Given the description of an element on the screen output the (x, y) to click on. 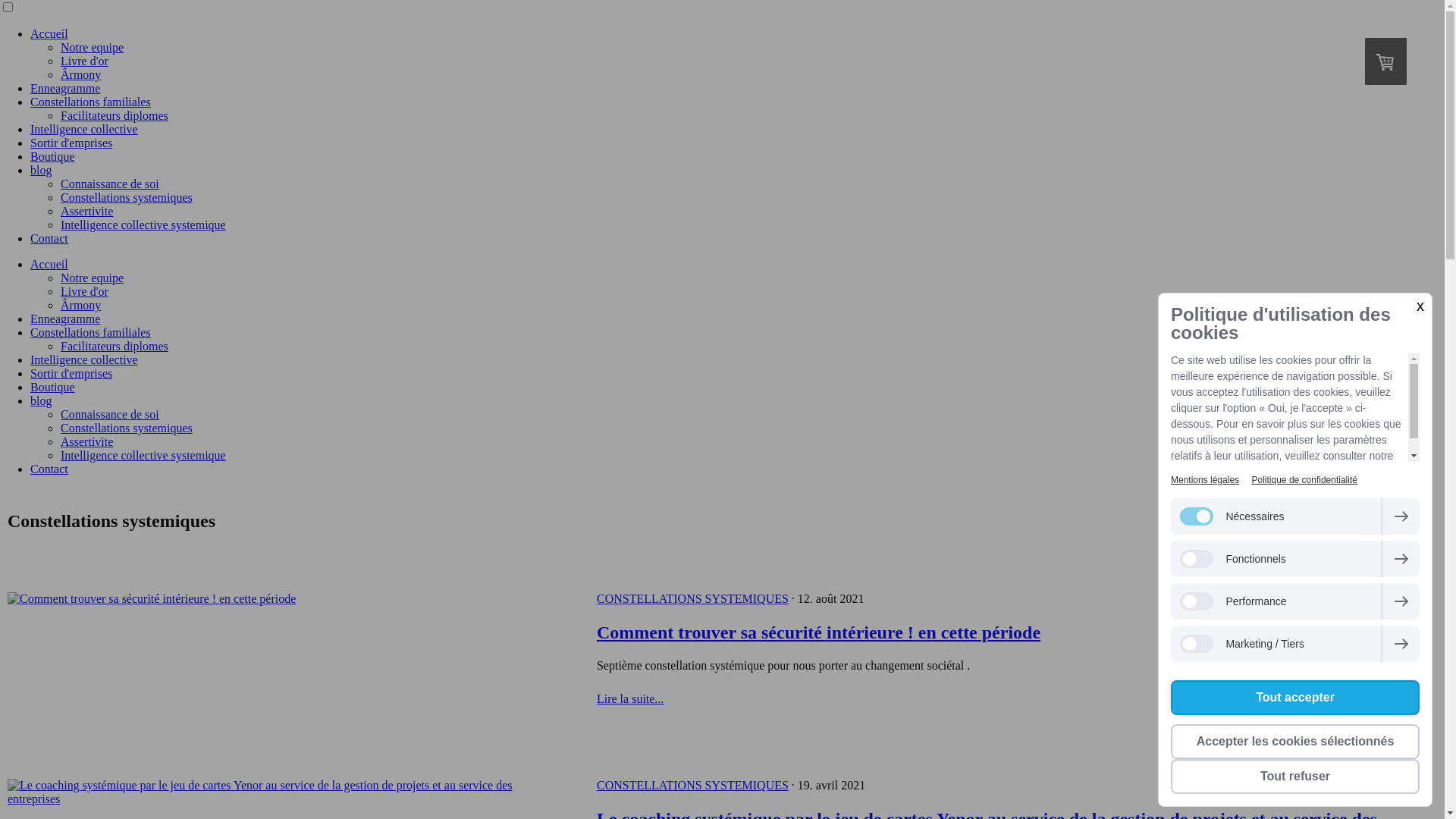
Livre d'or Element type: text (84, 291)
Boutique Element type: text (52, 386)
Intelligence collective systemique Element type: text (142, 224)
Constellations systemiques Element type: text (126, 197)
Assertivite Element type: text (86, 210)
Lire la suite... Element type: text (629, 698)
Livre d'or Element type: text (84, 60)
Tout accepter Element type: text (1294, 697)
CONSTELLATIONS SYSTEMIQUES Element type: text (692, 784)
Intelligence collective Element type: text (84, 359)
Facilitateurs diplomes Element type: text (114, 345)
Connaissance de soi Element type: text (109, 413)
Constellations familiales Element type: text (90, 101)
blog Element type: text (40, 169)
Contact Element type: text (49, 238)
Tout refuser Element type: text (1294, 776)
Intelligence collective Element type: text (84, 128)
Boutique Element type: text (52, 156)
Notre equipe Element type: text (91, 277)
Accueil Element type: text (49, 33)
blog Element type: text (40, 400)
Facilitateurs diplomes Element type: text (114, 115)
Enneagramme Element type: text (65, 87)
CONSTELLATIONS SYSTEMIQUES Element type: text (692, 598)
Sortir d'emprises Element type: text (71, 373)
Notre equipe Element type: text (91, 46)
Contact Element type: text (49, 468)
Connaissance de soi Element type: text (109, 183)
Constellations familiales Element type: text (90, 332)
Constellations systemiques Element type: text (126, 427)
Accueil Element type: text (49, 263)
Sortir d'emprises Element type: text (71, 142)
Assertivite Element type: text (86, 441)
Intelligence collective systemique Element type: text (142, 454)
Enneagramme Element type: text (65, 318)
